Given the description of an element on the screen output the (x, y) to click on. 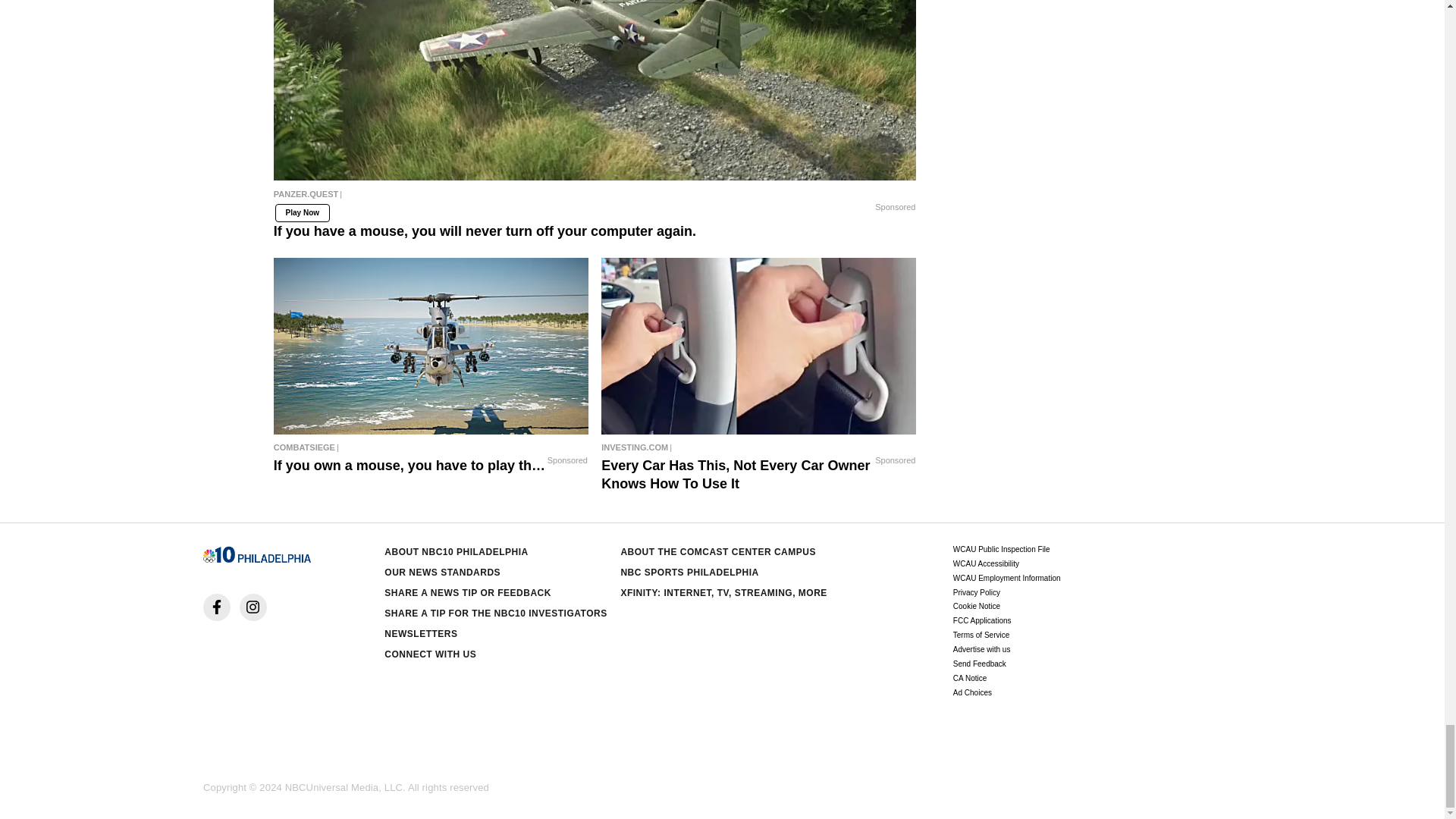
Every Car Has This, Not Every Car Owner Knows How To Use It (758, 447)
If you own a mouse, you have to play this game. (430, 447)
Every Car Has This, Not Every Car Owner Knows How To Use It (758, 345)
If you own a mouse, you have to play this game. (430, 345)
